Given the description of an element on the screen output the (x, y) to click on. 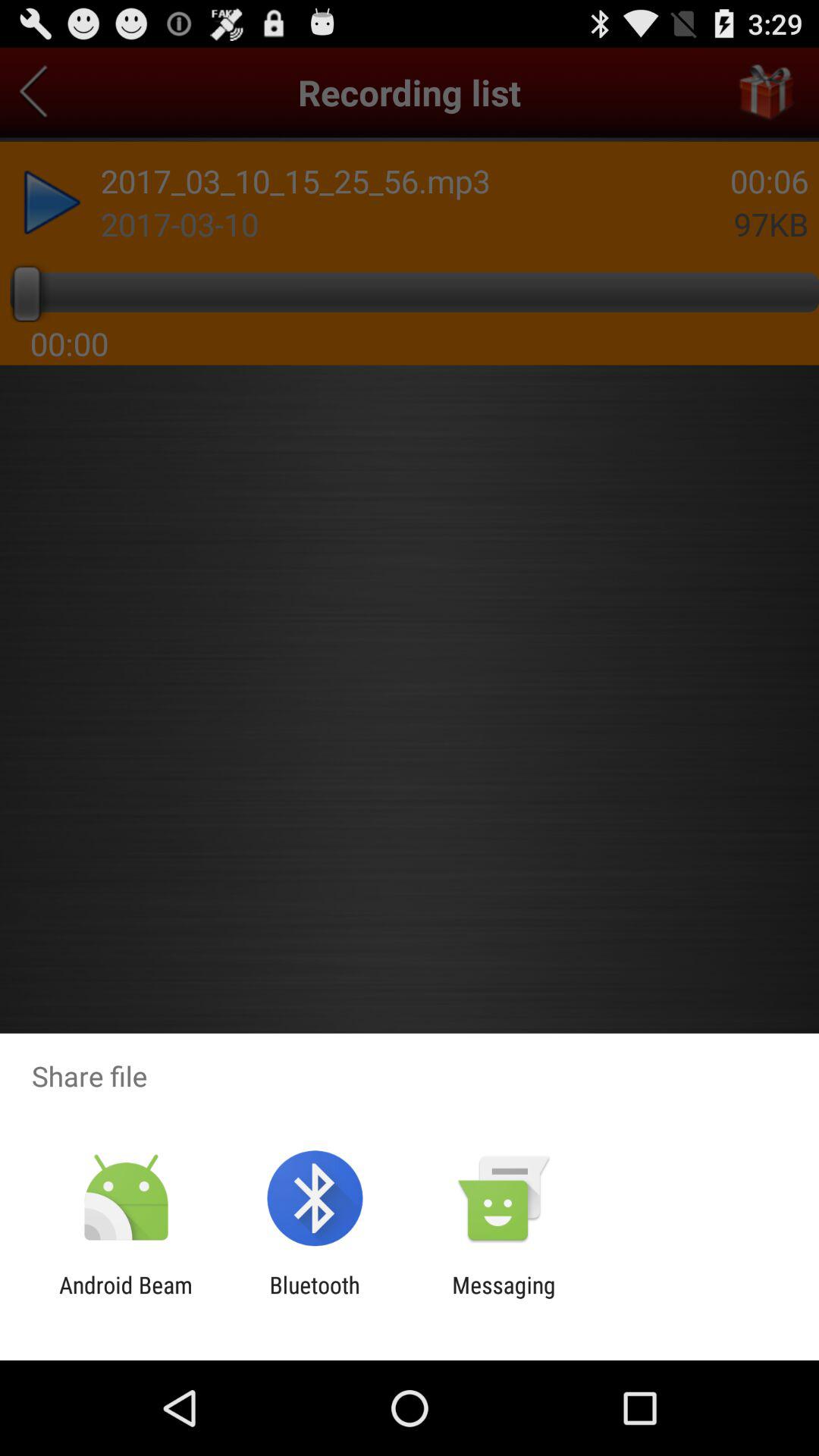
press the app to the left of the bluetooth (125, 1298)
